Given the description of an element on the screen output the (x, y) to click on. 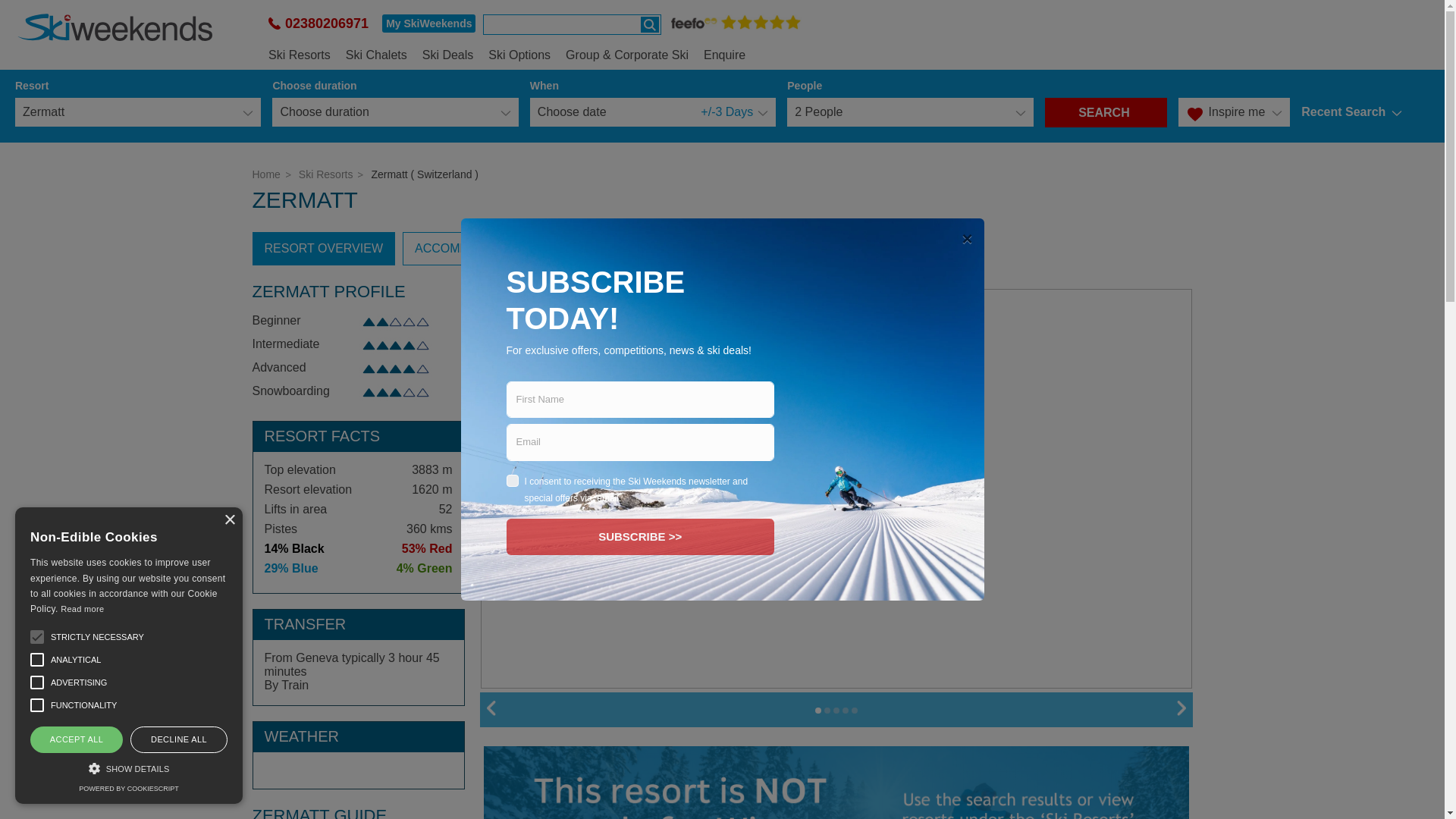
SKI WEEKENDS (115, 27)
My SkiWeekends (428, 23)
Search (649, 24)
Ski Resorts (298, 52)
Search (649, 24)
02380206971 (317, 23)
